Given the description of an element on the screen output the (x, y) to click on. 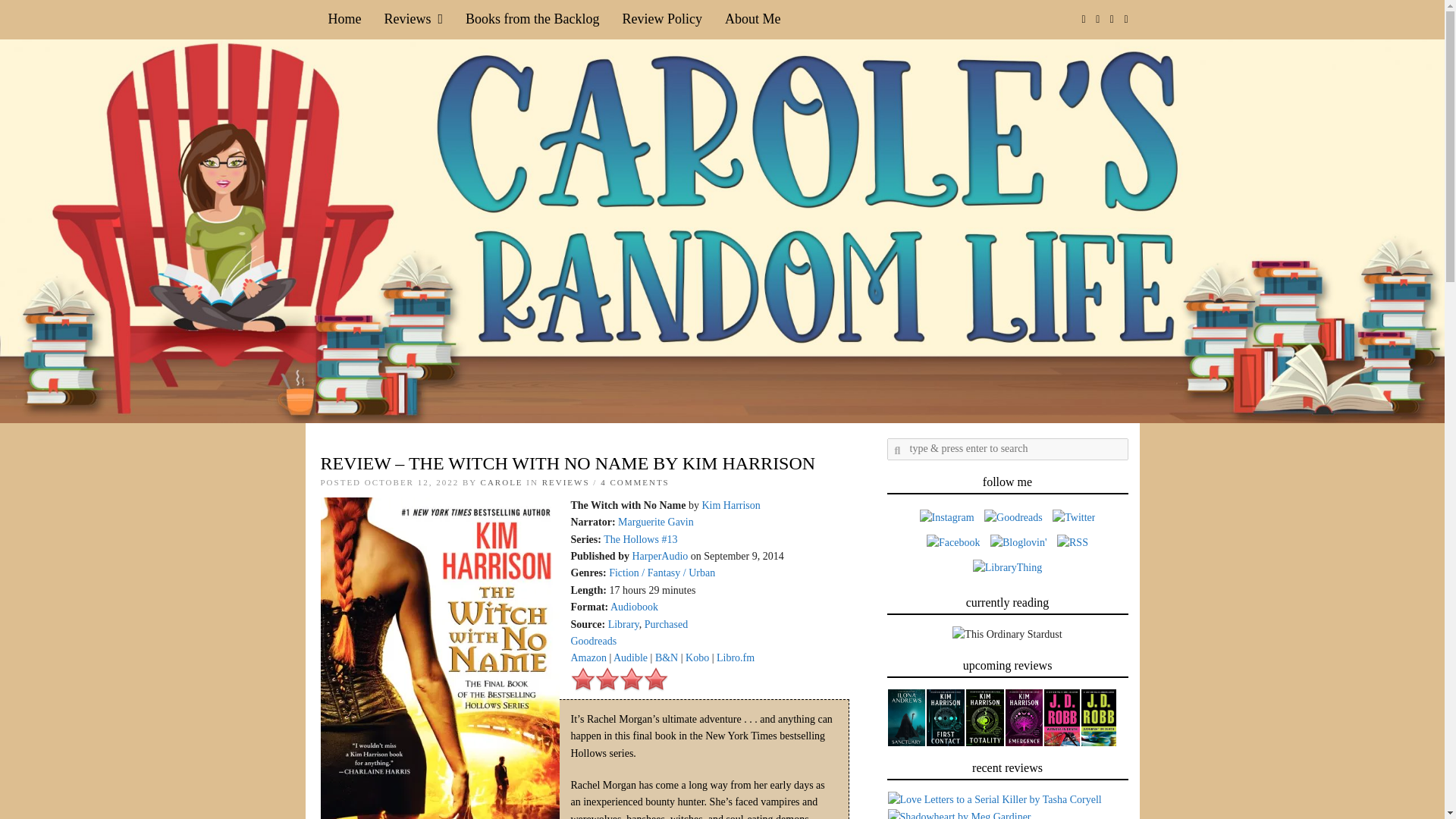
Audiobook (634, 606)
REVIEWS (565, 481)
Goodreads (592, 641)
Library (623, 624)
Kobo (697, 657)
Kim Harrison (730, 505)
View all posts in Reviews (565, 481)
Home (344, 19)
About Me (752, 19)
HarperAudio (659, 555)
